Given the description of an element on the screen output the (x, y) to click on. 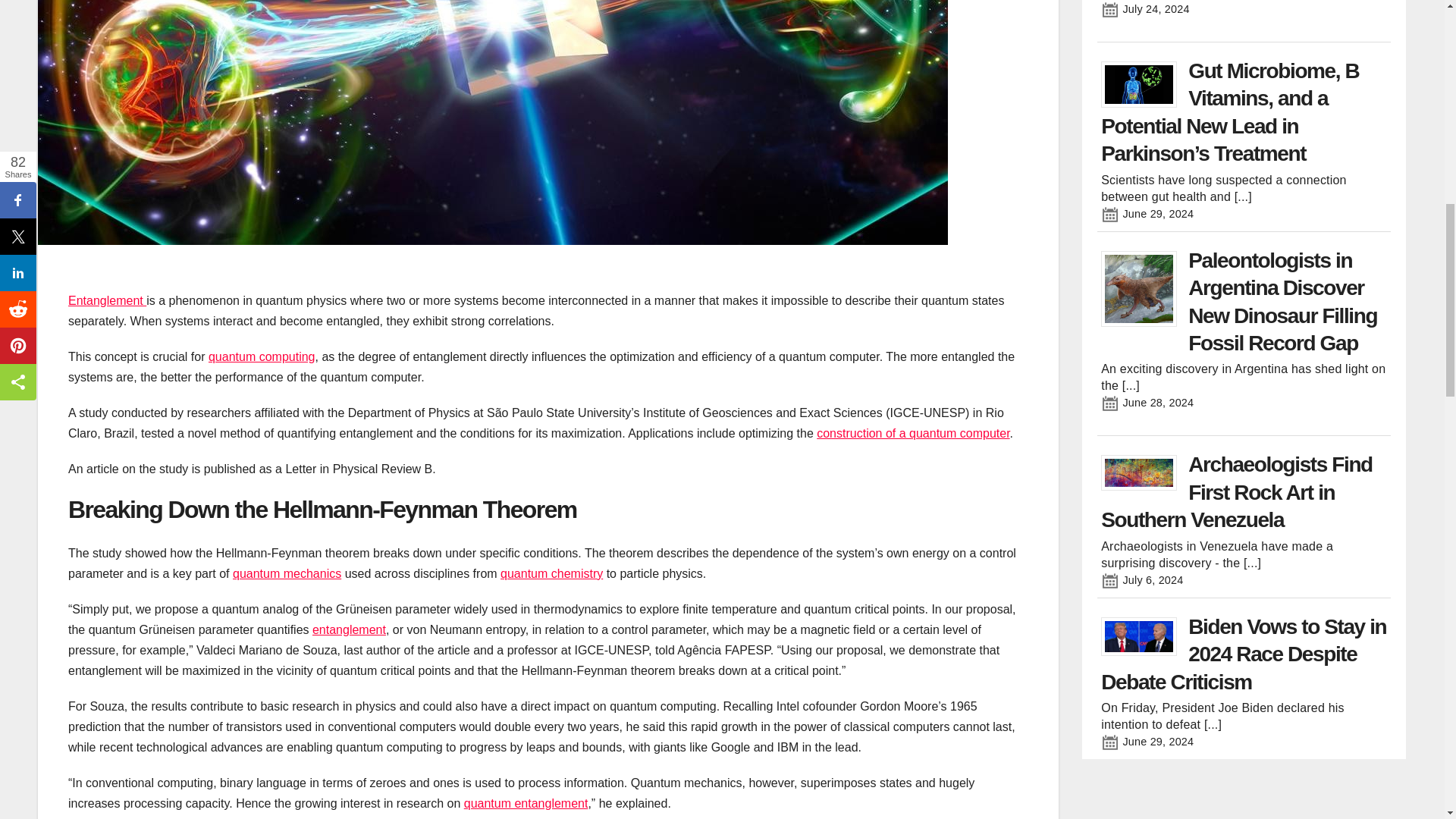
construction of a quantum computer (912, 432)
quantum computing (261, 356)
quantum mechanics (286, 573)
entanglement (349, 629)
quantum entanglement (526, 802)
Entanglement (107, 300)
quantum chemistry (551, 573)
